Given the description of an element on the screen output the (x, y) to click on. 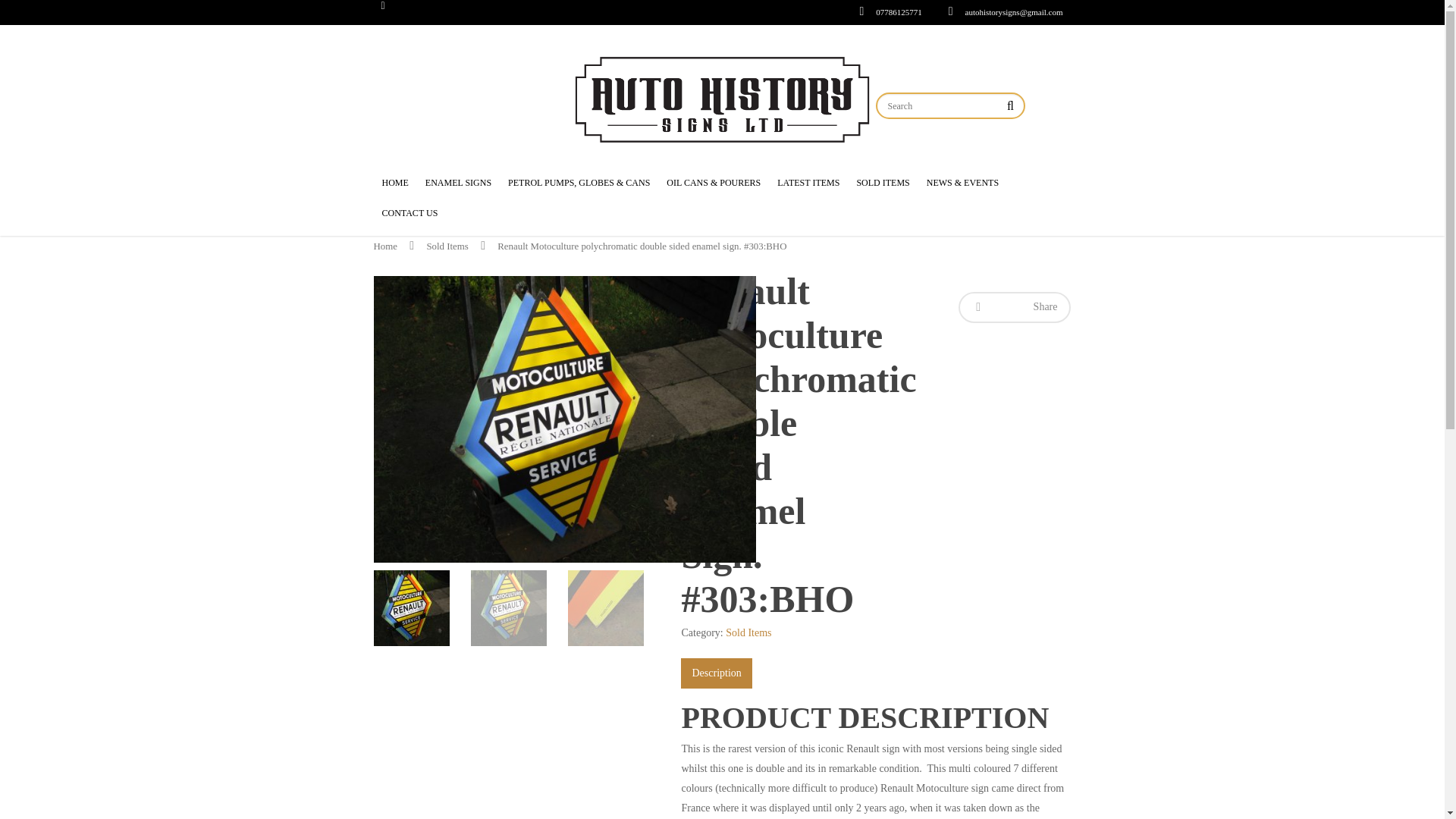
Home (384, 245)
LATEST ITEMS (808, 190)
Share (1014, 306)
ENAMEL SIGNS (458, 190)
07786125771 (886, 16)
Description (716, 673)
CONTACT US (409, 220)
SOLD ITEMS (882, 190)
Sold Items (446, 245)
Sold Items (748, 632)
